Given the description of an element on the screen output the (x, y) to click on. 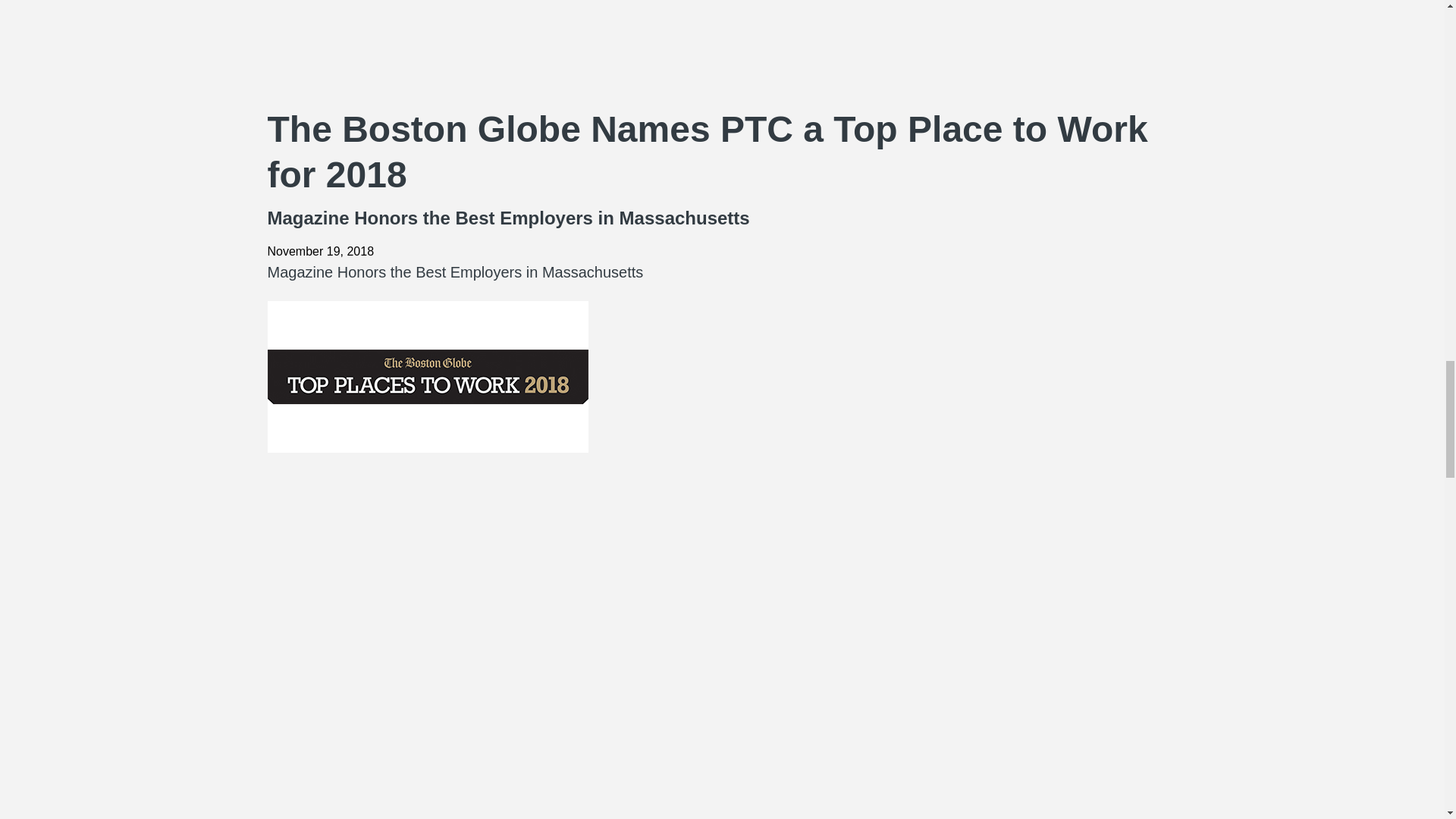
X (721, 630)
mail (721, 812)
Mail (721, 52)
facebook (721, 513)
linkedin (721, 747)
